Given the description of an element on the screen output the (x, y) to click on. 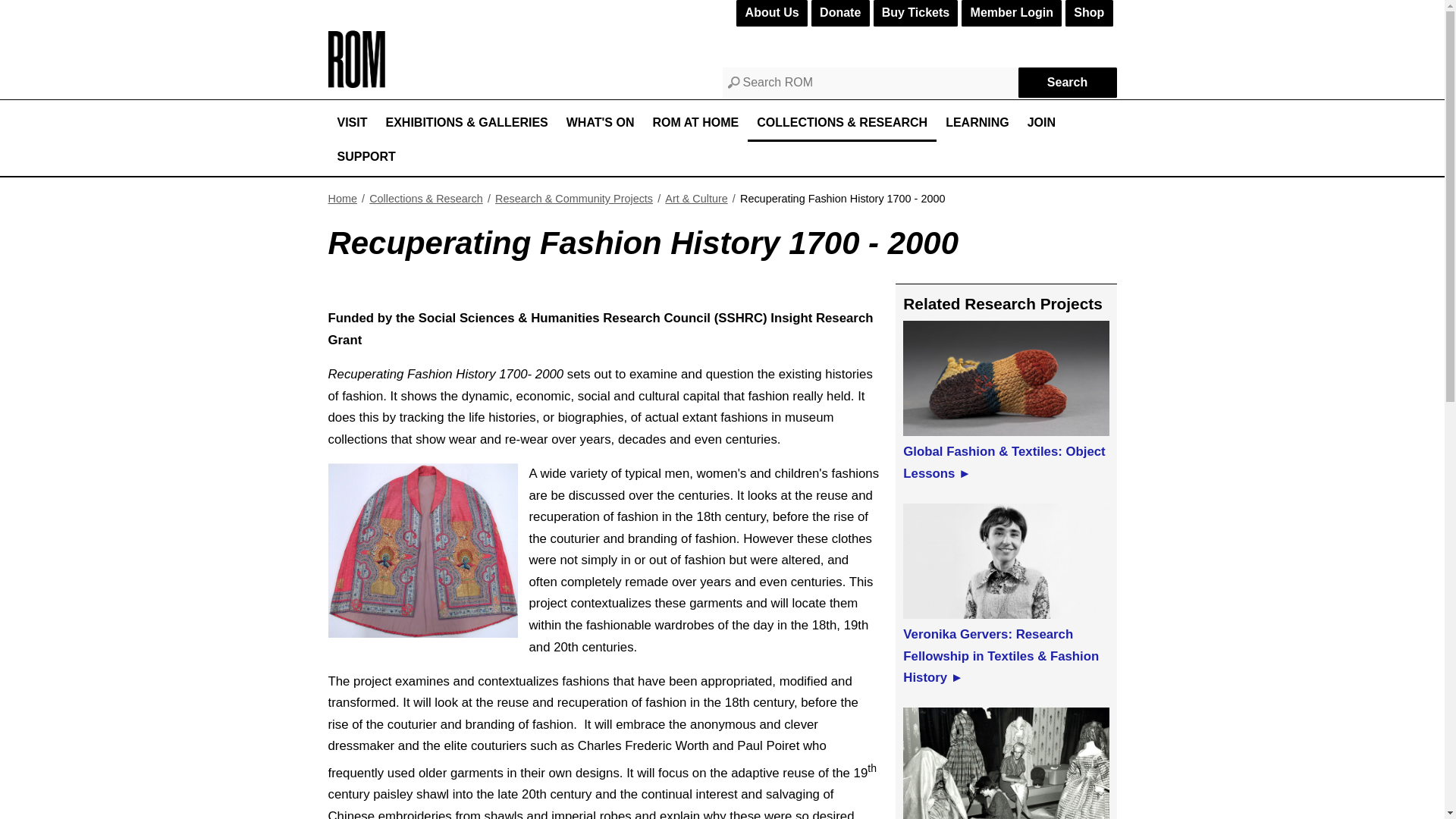
WHAT'S ON (600, 124)
VISIT (351, 124)
Search (1066, 82)
About Us (771, 13)
Member Login (1010, 13)
Donate (839, 13)
Buy Tickets (915, 13)
1930s cape made from a Chinese skirt (421, 550)
Home page (355, 83)
Search (1066, 82)
Shop (1088, 13)
